Given the description of an element on the screen output the (x, y) to click on. 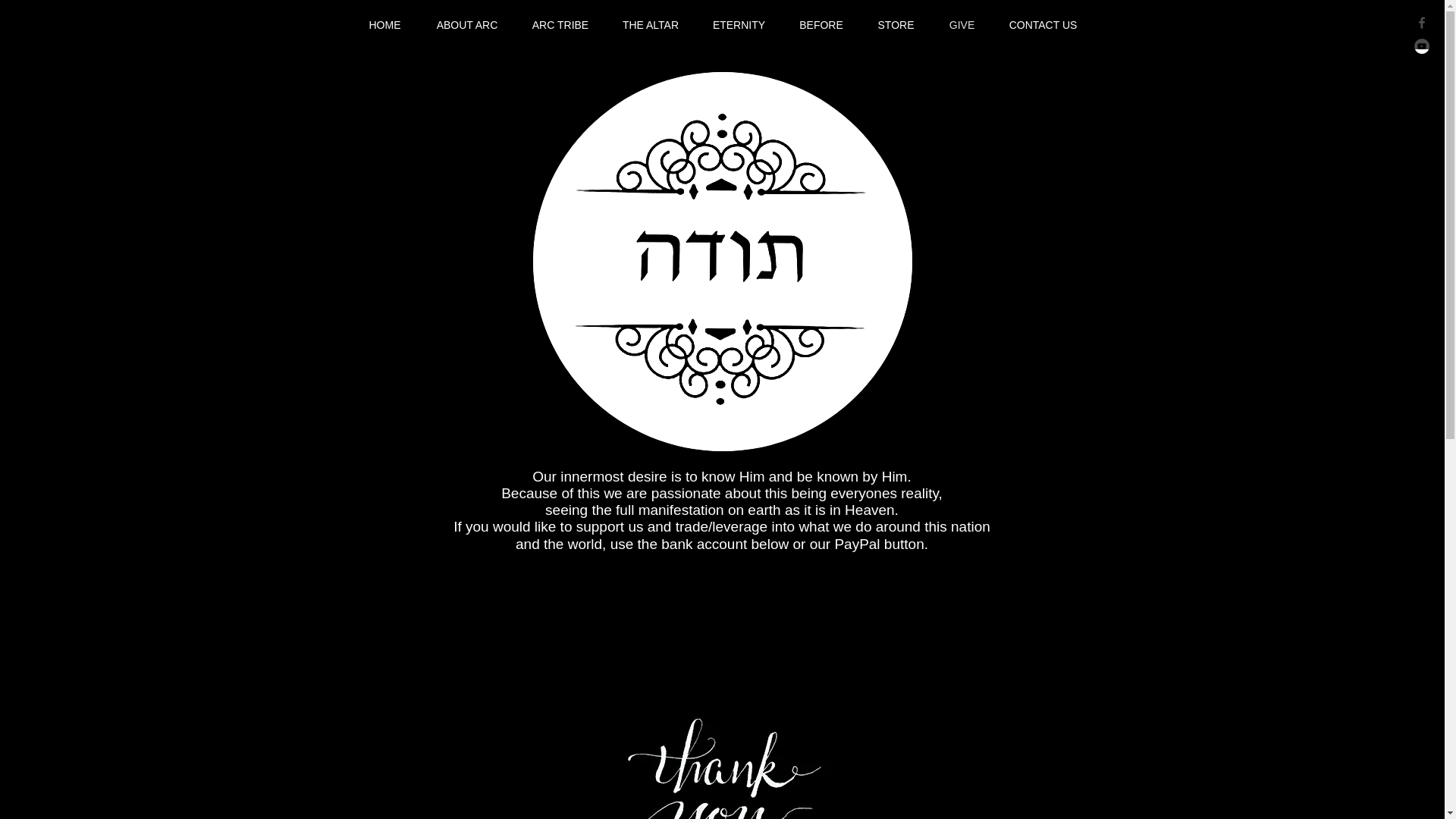
BEFORE (821, 24)
GIVE (961, 24)
ARC TRIBE (560, 24)
CONTACT US (1042, 24)
THE ALTAR (650, 24)
HOME (384, 24)
ETERNITY (739, 24)
ABOUT ARC (467, 24)
STORE (895, 24)
